Given the description of an element on the screen output the (x, y) to click on. 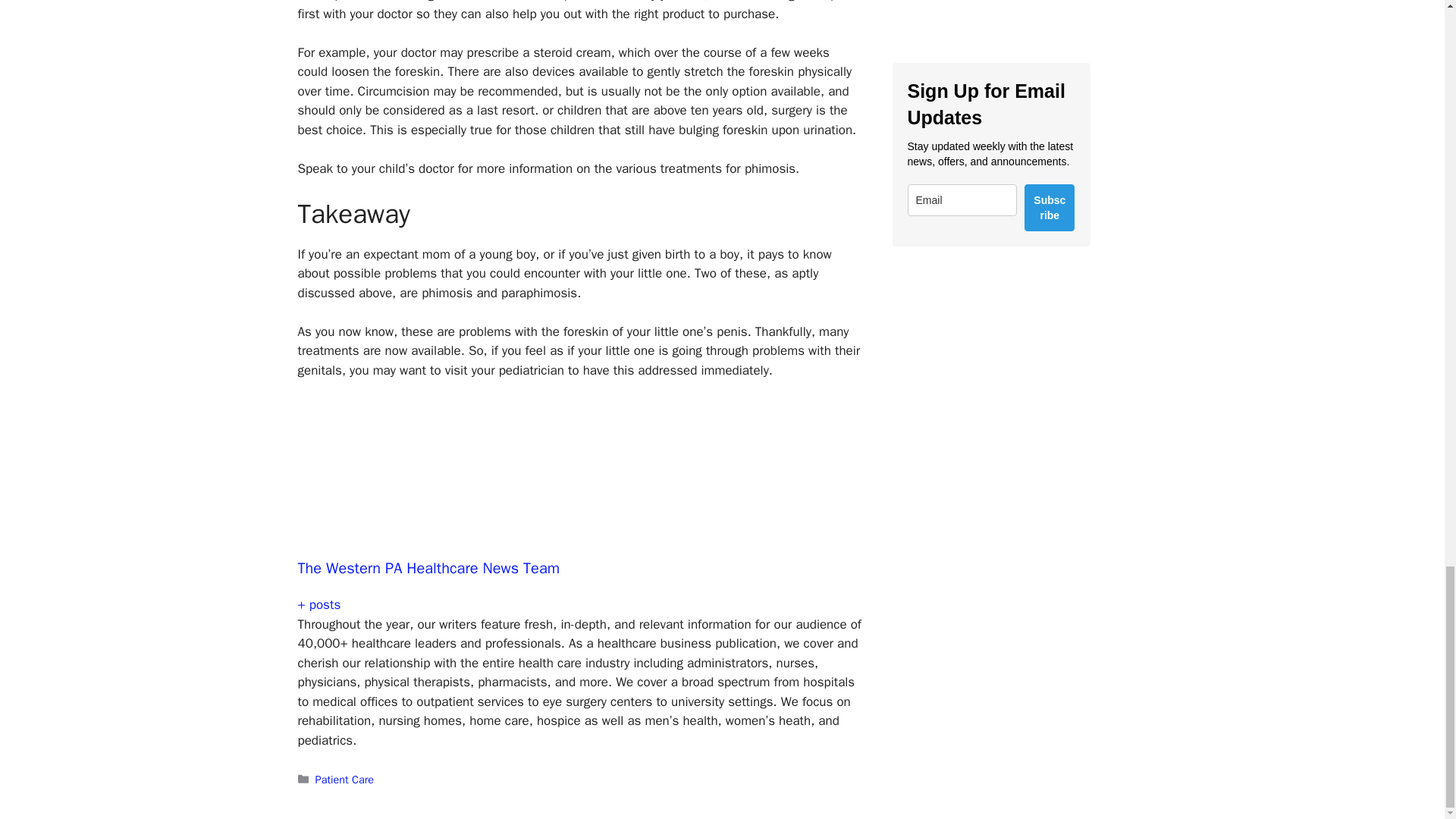
The Western PA Healthcare News Team (428, 568)
